Given the description of an element on the screen output the (x, y) to click on. 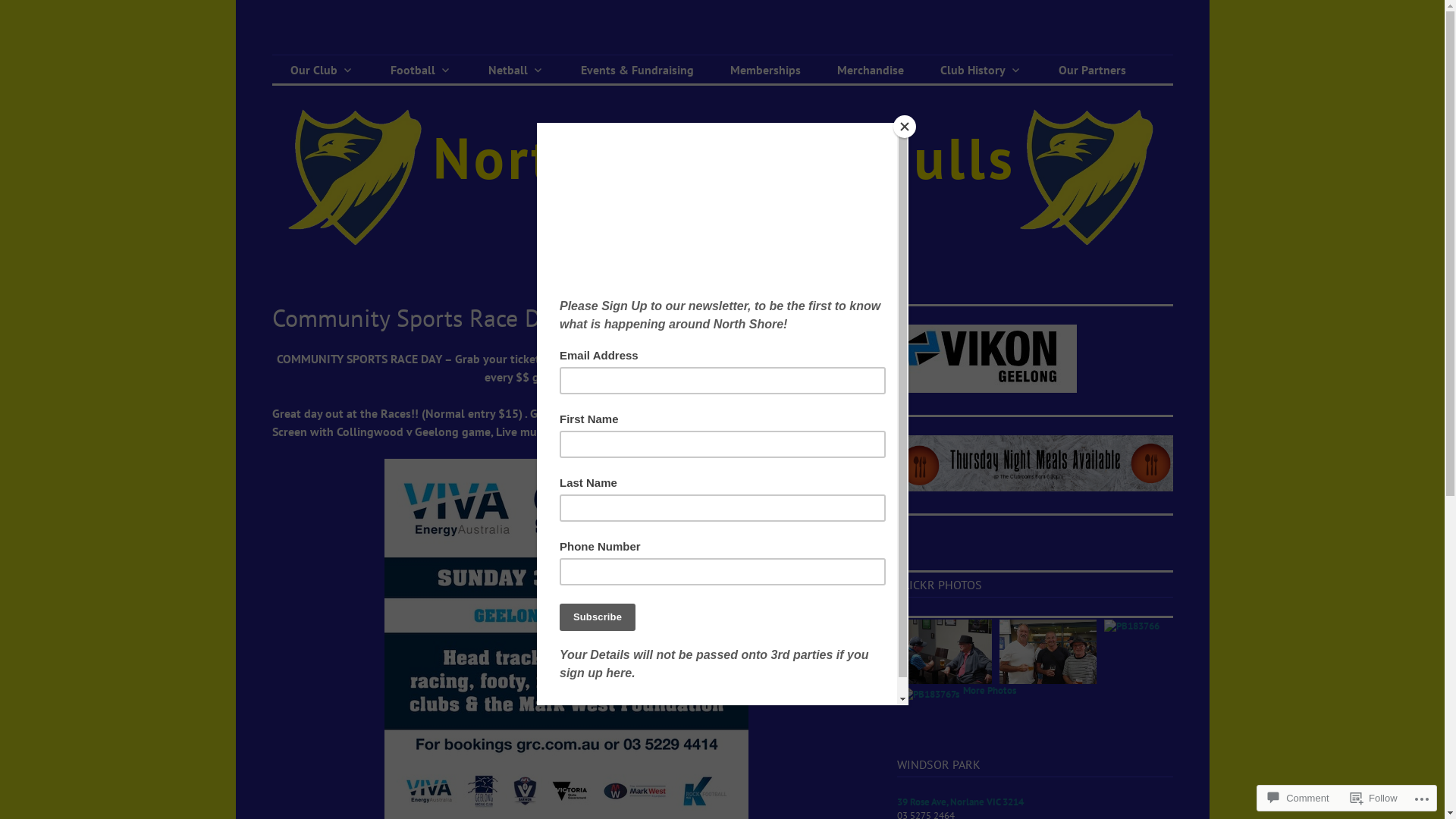
Follow Element type: text (1373, 797)
Our Club Element type: text (321, 69)
Memberships Element type: text (764, 69)
Our Partners Element type: text (1092, 69)
PB183767s Element type: hover (929, 721)
Merchandise Element type: text (870, 69)
North Shore Seagulls Element type: text (409, 54)
Netball Element type: text (516, 69)
PB183765s Element type: hover (1047, 653)
Football Element type: text (420, 69)
Events & Fundraising Element type: text (637, 69)
Club History Element type: text (981, 69)
PB183769s Element type: hover (945, 653)
More Photos Element type: text (989, 718)
PB183766 Element type: hover (1131, 653)
Comment Element type: text (1297, 797)
39 Rose Ave, Norlane VIC 3214 Element type: text (959, 801)
